Given the description of an element on the screen output the (x, y) to click on. 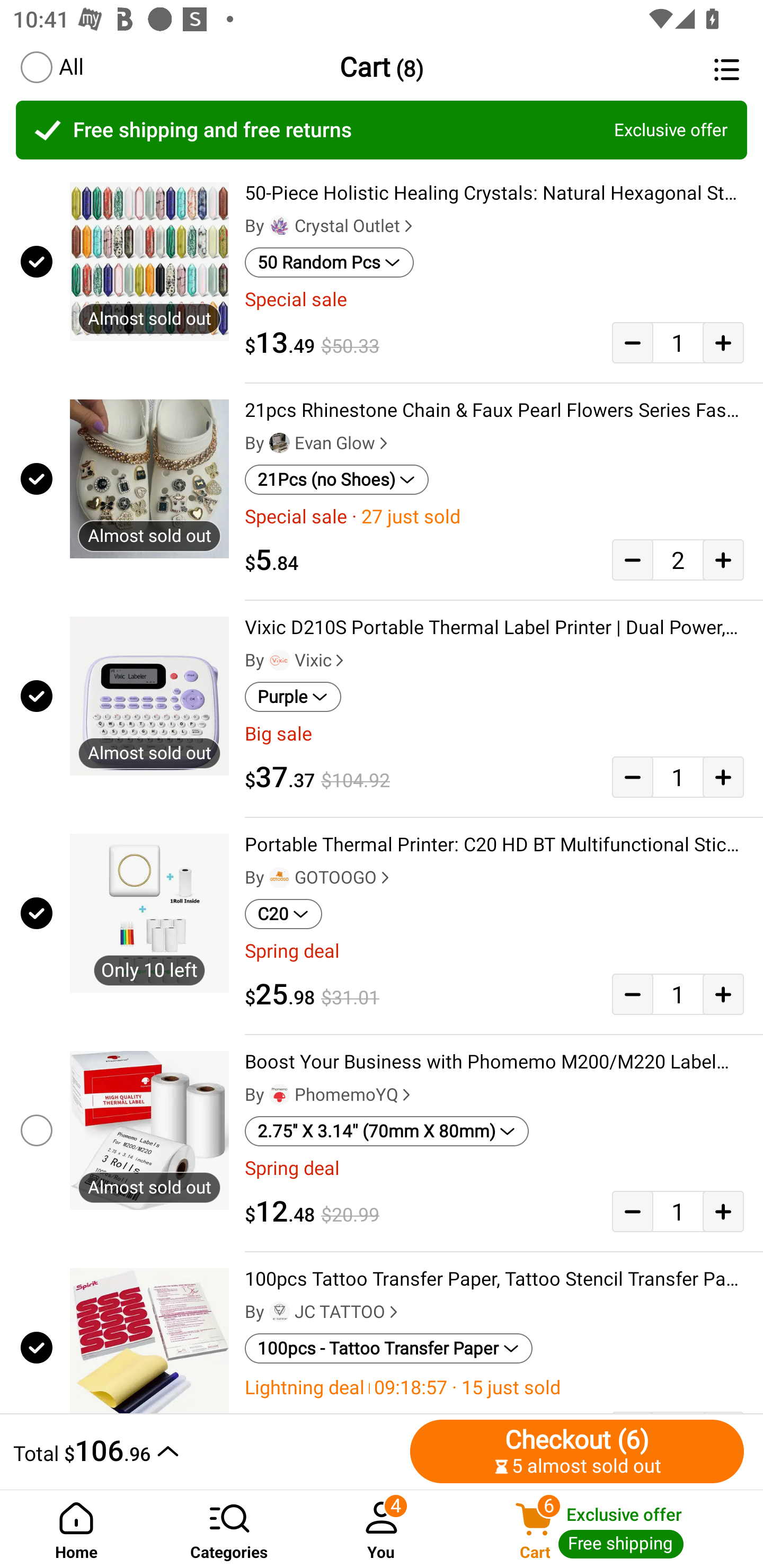
Select all tick button All (51, 67)
Free shipping and free returns Exclusive offer (381, 129)
Product checkbox checked (35, 260)
By Crystal Outlet (330, 226)
50 Random Pcs (328, 262)
Special sale (493, 299)
Decrease quantity button (632, 342)
1 (677, 342)
Add quantity button (722, 342)
Product checkbox checked (35, 478)
By Evan Glow (317, 442)
21Pcs (no Shoes) (336, 479)
Decrease quantity button (632, 559)
2 (677, 559)
Add quantity button (722, 559)
Product checkbox checked (35, 696)
By Vixic (295, 660)
Purple (292, 696)
Decrease quantity button (632, 776)
1 (677, 776)
Add quantity button (722, 776)
Product checkbox checked (35, 913)
By GOTOOGO (318, 877)
C20 (282, 913)
Spring deal (493, 951)
Decrease quantity button (632, 993)
1 (677, 993)
Add quantity button (722, 993)
Product checkbox uncheck (35, 1130)
By PhomemoYQ (329, 1095)
2.75'' X 3.14'' (70mm X 80mm) (386, 1131)
Spring deal (493, 1168)
Decrease quantity button (632, 1211)
1 (677, 1211)
Add quantity button (722, 1211)
Product checkbox checked (35, 1344)
By JC TATTOO (322, 1311)
100pcs - Tattoo Transfer Paper (388, 1348)
Lightning deal | ￼ · 15 just sold (493, 1387)
Total $106.96 (206, 1450)
Checkout Checkout (6) ￼5 almost sold out (576, 1451)
Home (76, 1528)
Categories (228, 1528)
You 4 You (381, 1528)
Cart 6 Cart Exclusive offer (610, 1528)
